Given the description of an element on the screen output the (x, y) to click on. 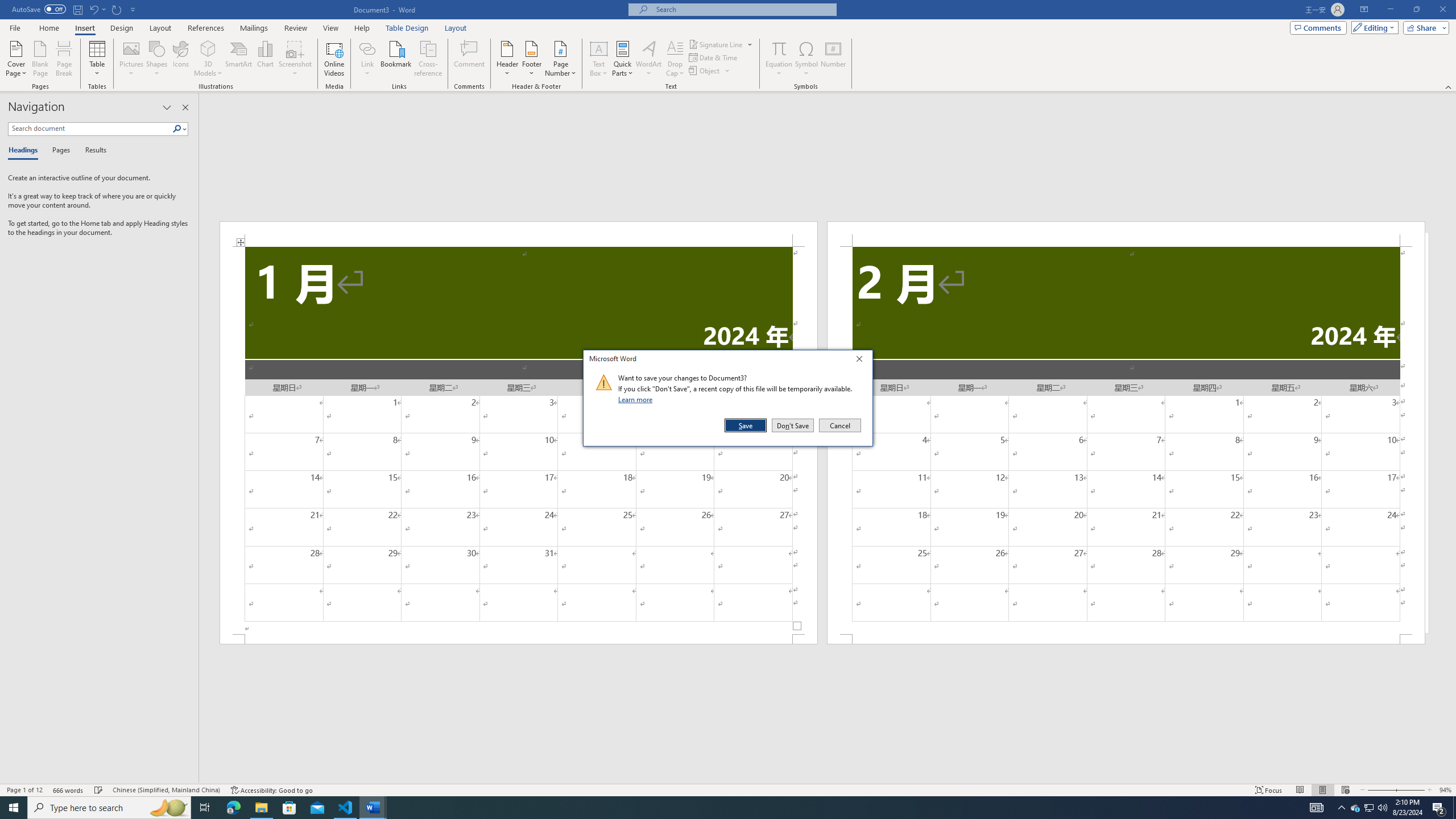
Page Break (63, 58)
Online Videos... (333, 58)
Comment (469, 58)
